Given the description of an element on the screen output the (x, y) to click on. 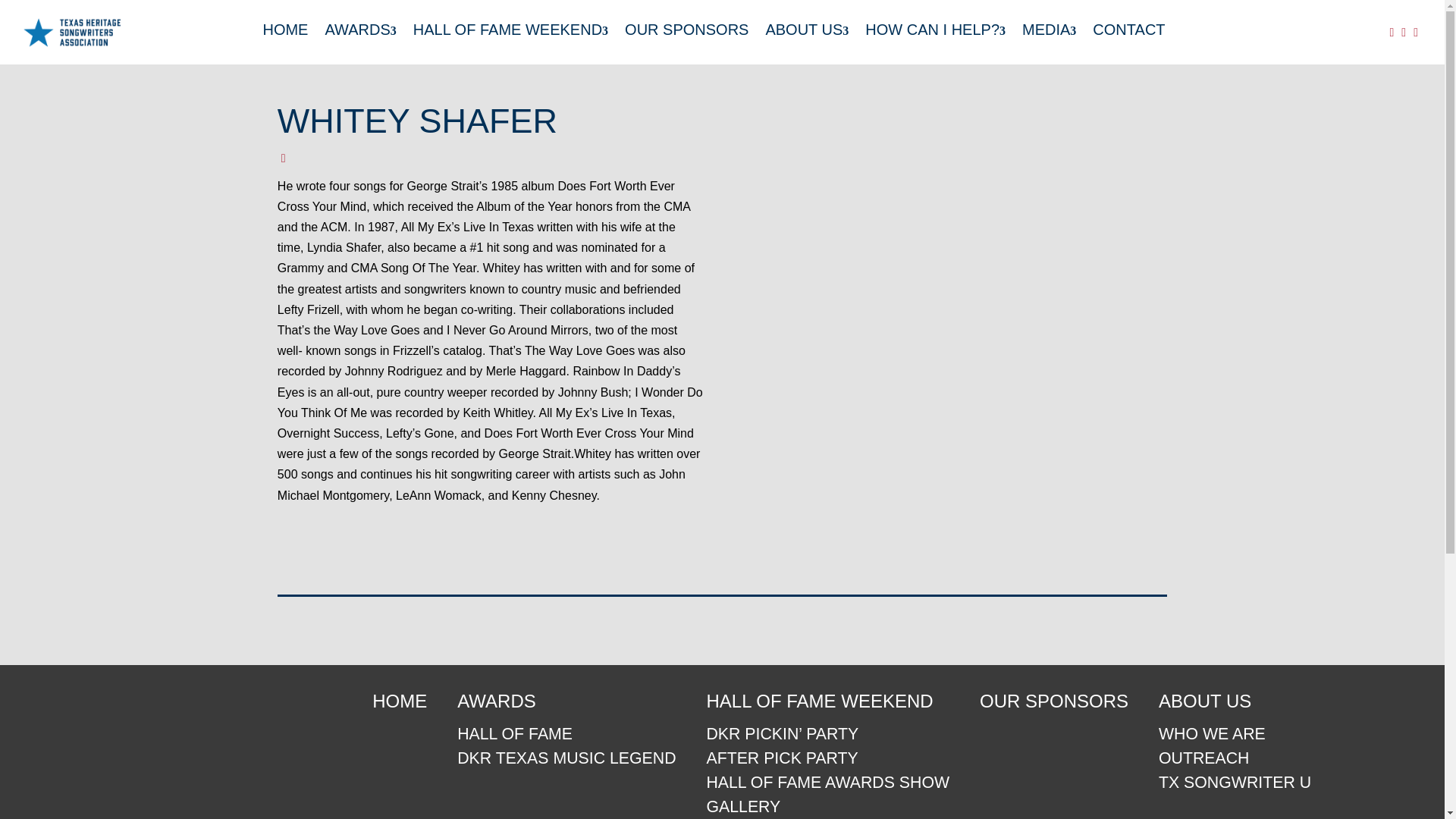
OUR SPONSORS (1053, 704)
HALL OF FAME WEEKEND (827, 704)
HALL OF FAME AWARDS SHOW (827, 783)
HALL OF FAME (566, 734)
AWARDS (566, 704)
HOW CAN I HELP? (935, 30)
MEDIA (1048, 30)
HOME (284, 30)
OUR SPONSORS (686, 30)
ABOUT US (806, 30)
